Given the description of an element on the screen output the (x, y) to click on. 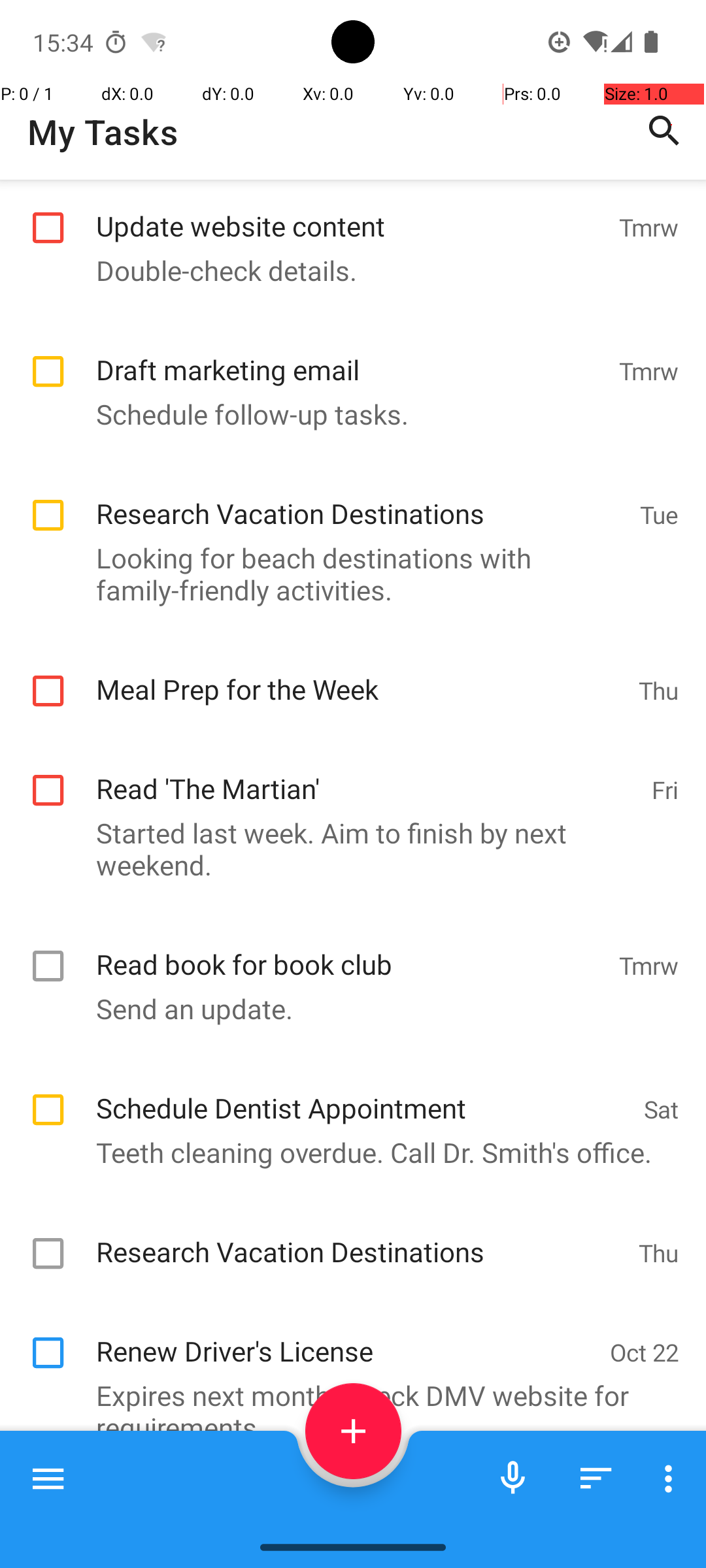
Update website content Element type: android.widget.TextView (350, 211)
Draft marketing email Element type: android.widget.TextView (350, 355)
Schedule follow-up tasks. Element type: android.widget.TextView (346, 413)
Read book for book club Element type: android.widget.TextView (350, 949)
Send an update. Element type: android.widget.TextView (346, 1008)
